Given the description of an element on the screen output the (x, y) to click on. 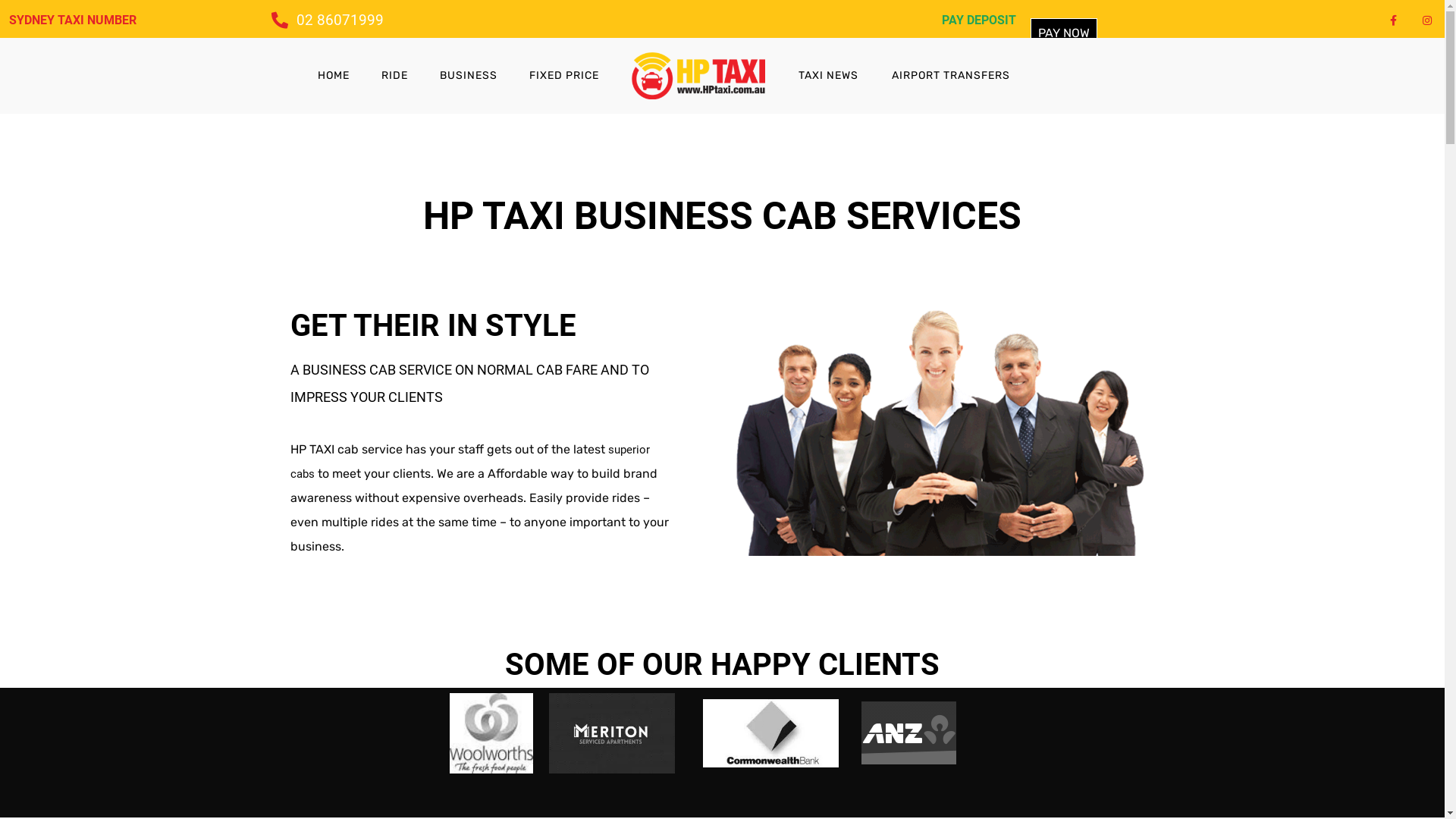
AIRPORT TRANSFERS Element type: text (950, 75)
TAXI NEWS Element type: text (828, 75)
BUSINESS Element type: text (468, 75)
RIDE Element type: text (394, 75)
FIXED PRICE Element type: text (564, 75)
HOME Element type: text (333, 75)
PAY NOW Element type: text (1063, 32)
